Given the description of an element on the screen output the (x, y) to click on. 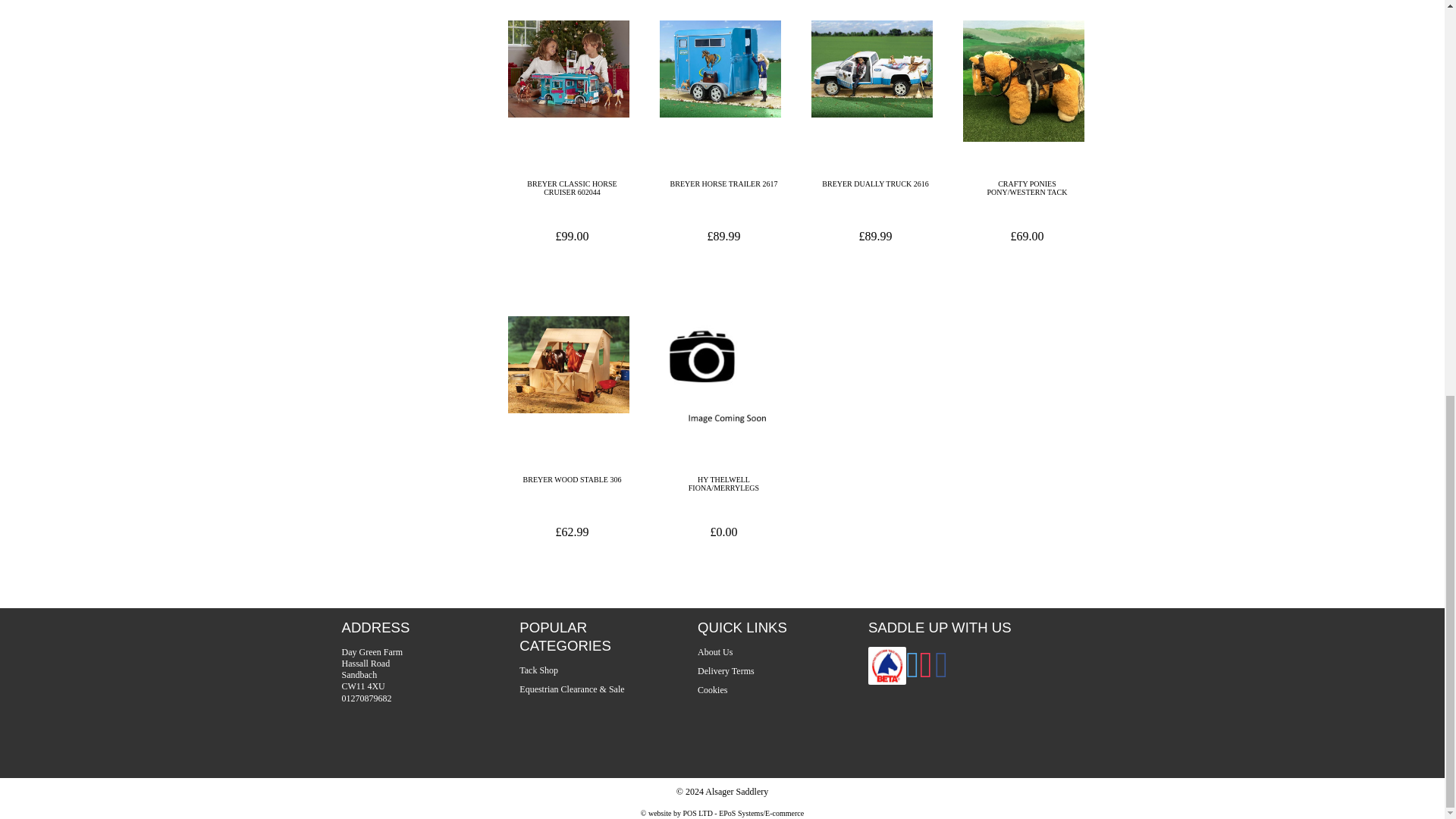
034152 (568, 68)
057346 (568, 365)
Alsager Instagram (925, 674)
Alsager Twitter (912, 674)
0608670000000 (719, 376)
024519 (871, 68)
059784 (1023, 80)
Alsager Facebook (941, 674)
024520 (719, 68)
